Given the description of an element on the screen output the (x, y) to click on. 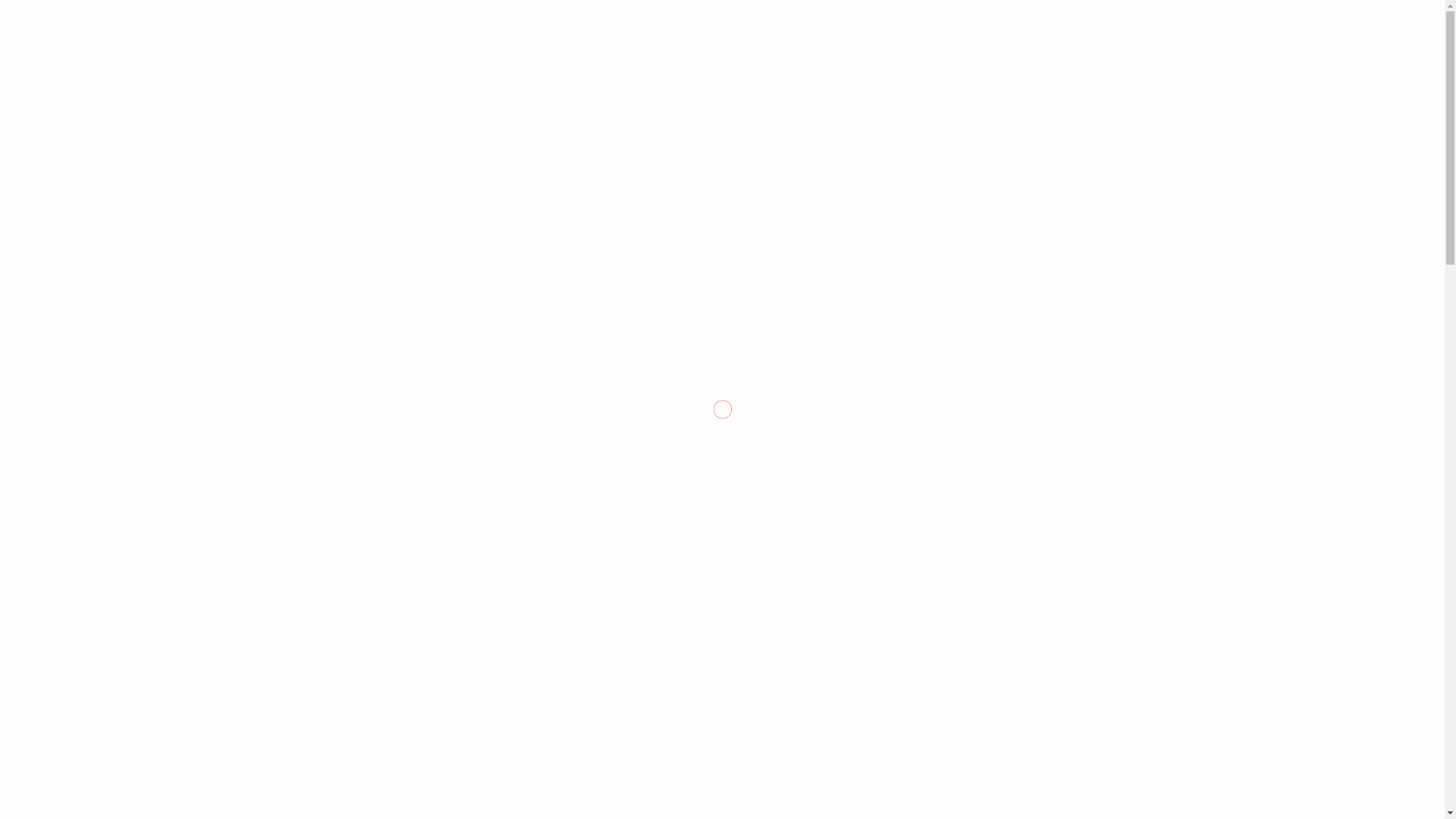
0725-92-8570 Element type: text (1214, 18)
